Given the description of an element on the screen output the (x, y) to click on. 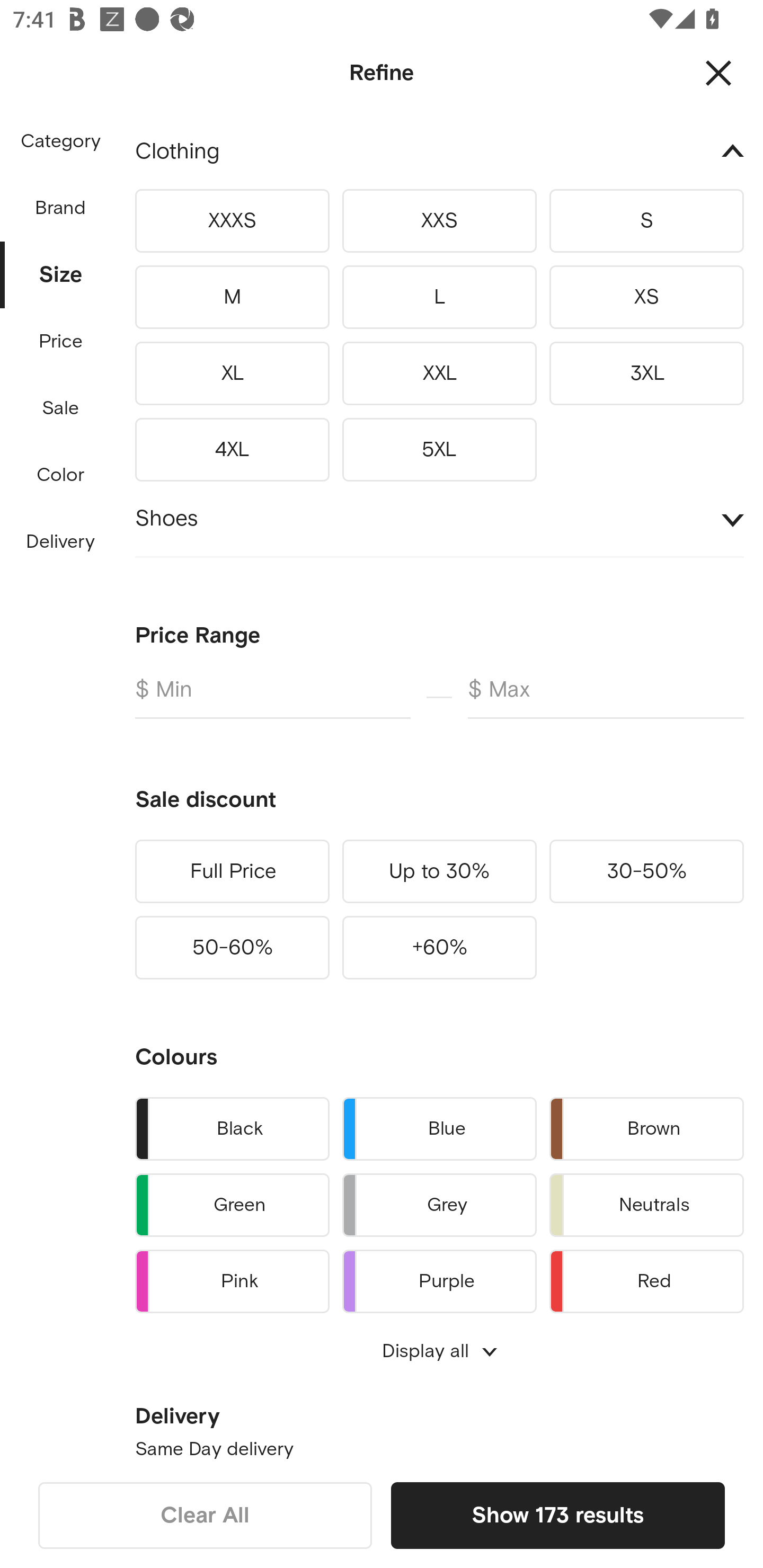
Category (60, 141)
Clothing (439, 156)
Brand (60, 203)
XXXS (232, 220)
XXS (439, 220)
S (646, 220)
Size (60, 270)
M (232, 296)
L (439, 296)
XS (646, 296)
Price (60, 342)
XL (232, 372)
XXL (439, 372)
3XL (646, 372)
Sale (60, 408)
4XL (232, 445)
5XL (439, 445)
Color (60, 475)
Shoes (439, 518)
Delivery (60, 542)
$ Min (272, 696)
$ Max (605, 696)
Full Price (232, 870)
Up to 30% (439, 870)
30-50% (646, 870)
50-60% (232, 947)
+60% (439, 947)
Black (232, 1128)
Blue (439, 1128)
Brown (646, 1128)
Green (232, 1204)
Grey (439, 1204)
Neutrals (646, 1204)
Pink (232, 1278)
Purple (439, 1278)
Red (646, 1278)
Display all (439, 1351)
Clear All (205, 1515)
Show 173 results (557, 1515)
